Given the description of an element on the screen output the (x, y) to click on. 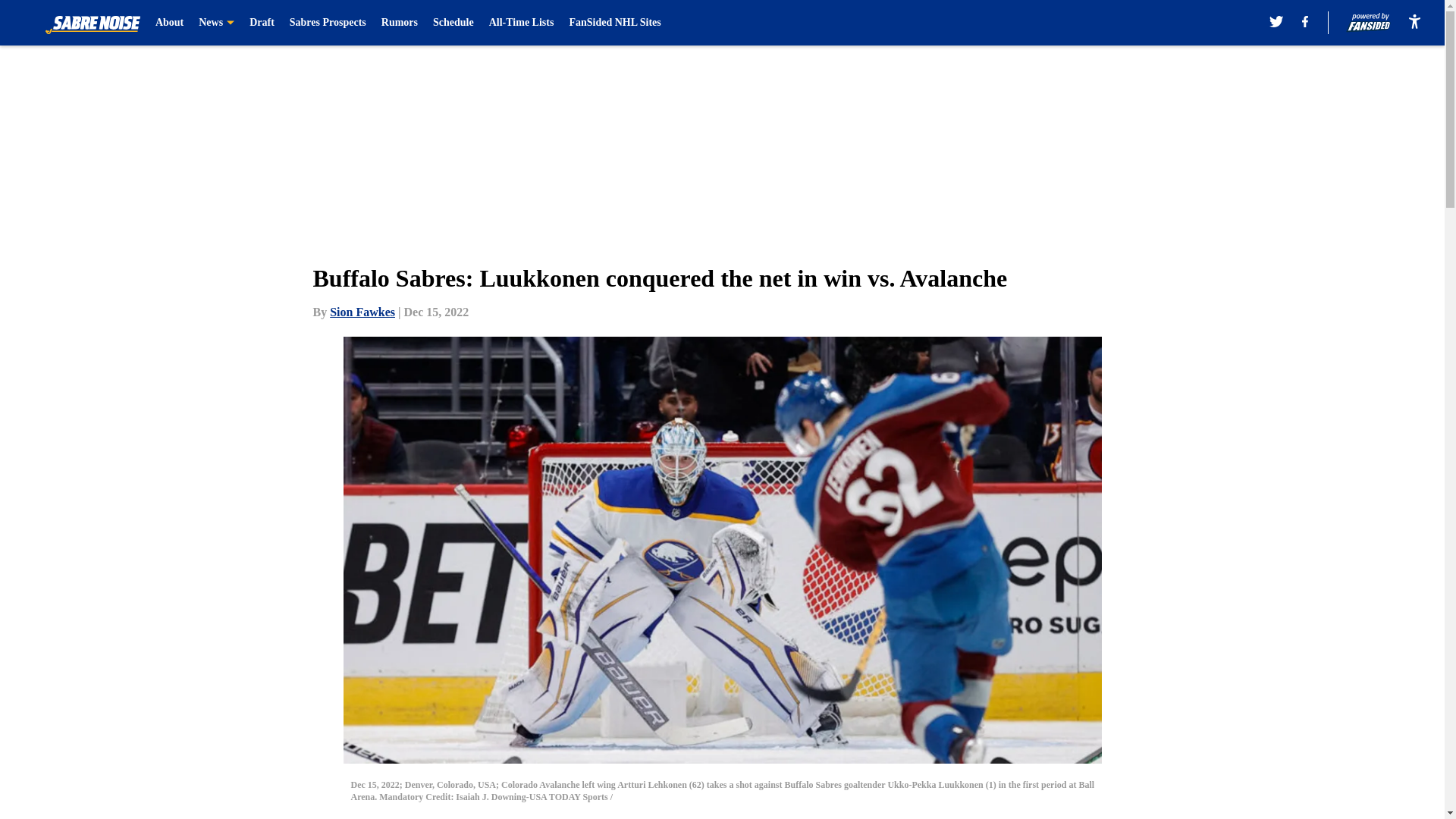
Draft (261, 22)
Sabres Prospects (327, 22)
Sion Fawkes (362, 311)
Rumors (399, 22)
About (169, 22)
FanSided NHL Sites (615, 22)
All-Time Lists (521, 22)
Schedule (453, 22)
